Given the description of an element on the screen output the (x, y) to click on. 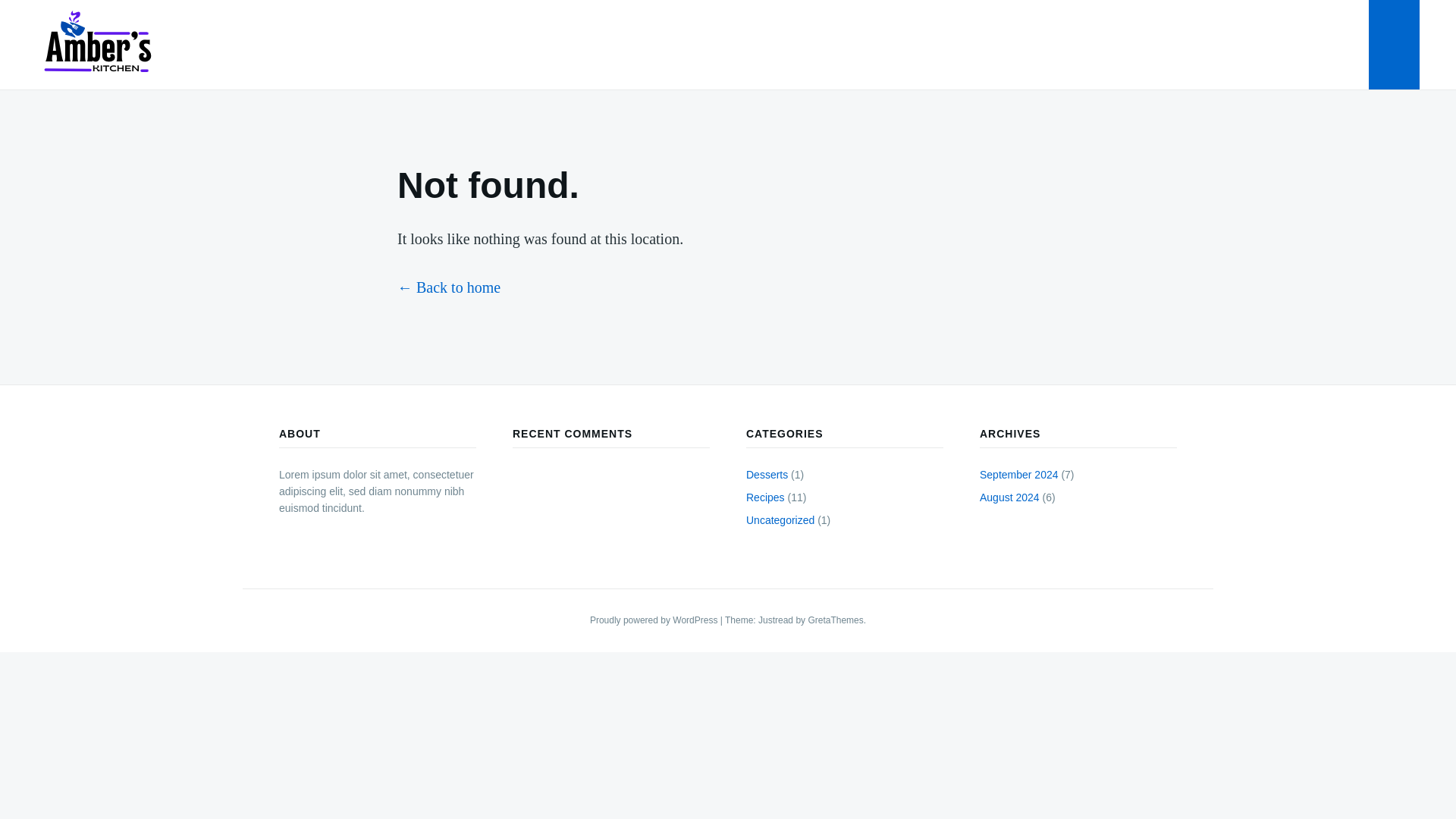
September 2024 (1018, 474)
Amber's Kitchen Chronicles (157, 94)
August 2024 (1009, 497)
Uncategorized (779, 520)
Recipes (764, 497)
Proudly powered by WordPress (654, 620)
Desserts (766, 474)
GretaThemes (835, 620)
